Given the description of an element on the screen output the (x, y) to click on. 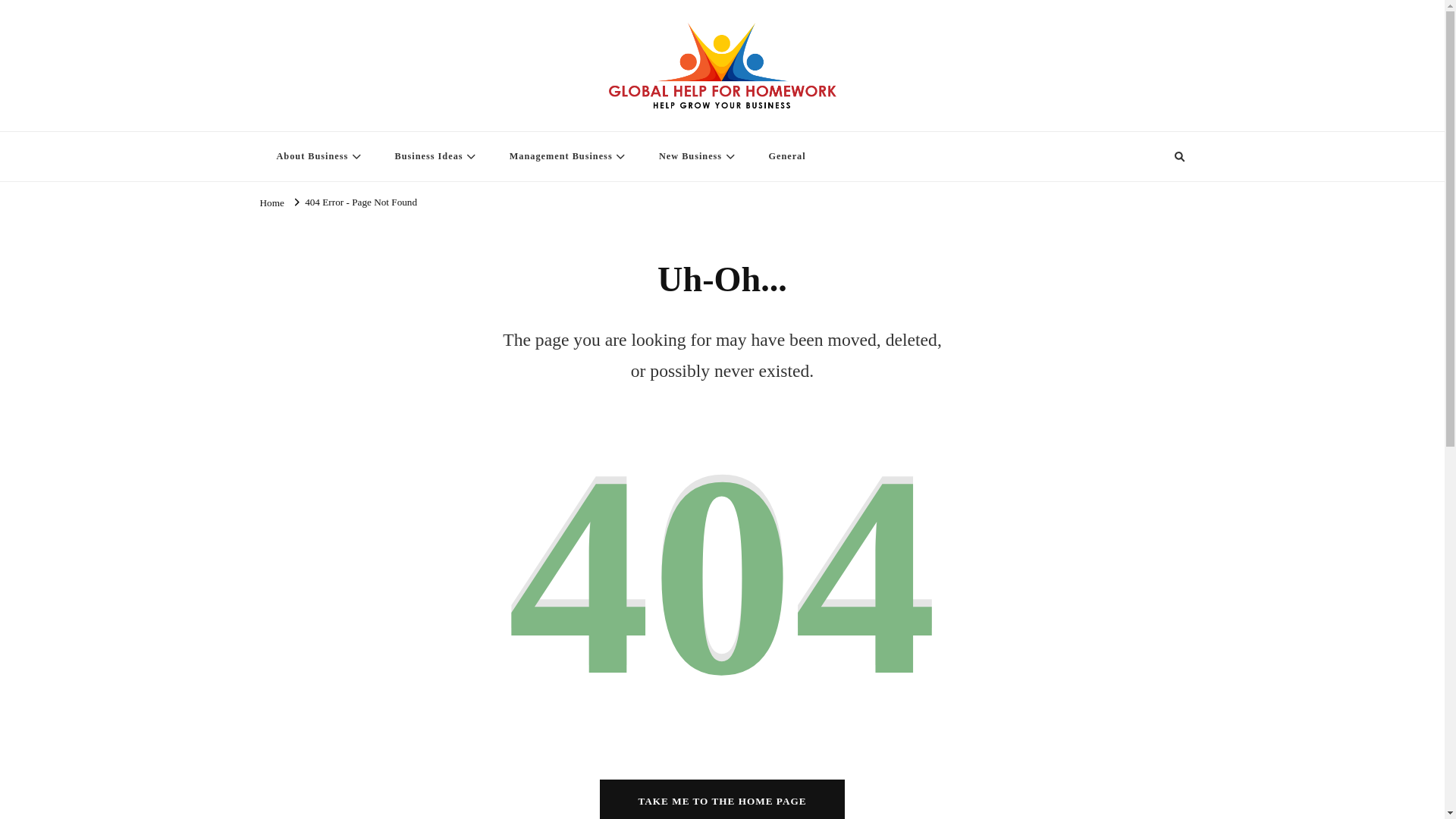
General (786, 155)
Home (271, 201)
Search (1151, 157)
New Business (695, 155)
About Business (316, 155)
Business Ideas (433, 155)
Global Help For Homework (387, 121)
TAKE ME TO THE HOME PAGE (721, 799)
Management Business (566, 155)
